Given the description of an element on the screen output the (x, y) to click on. 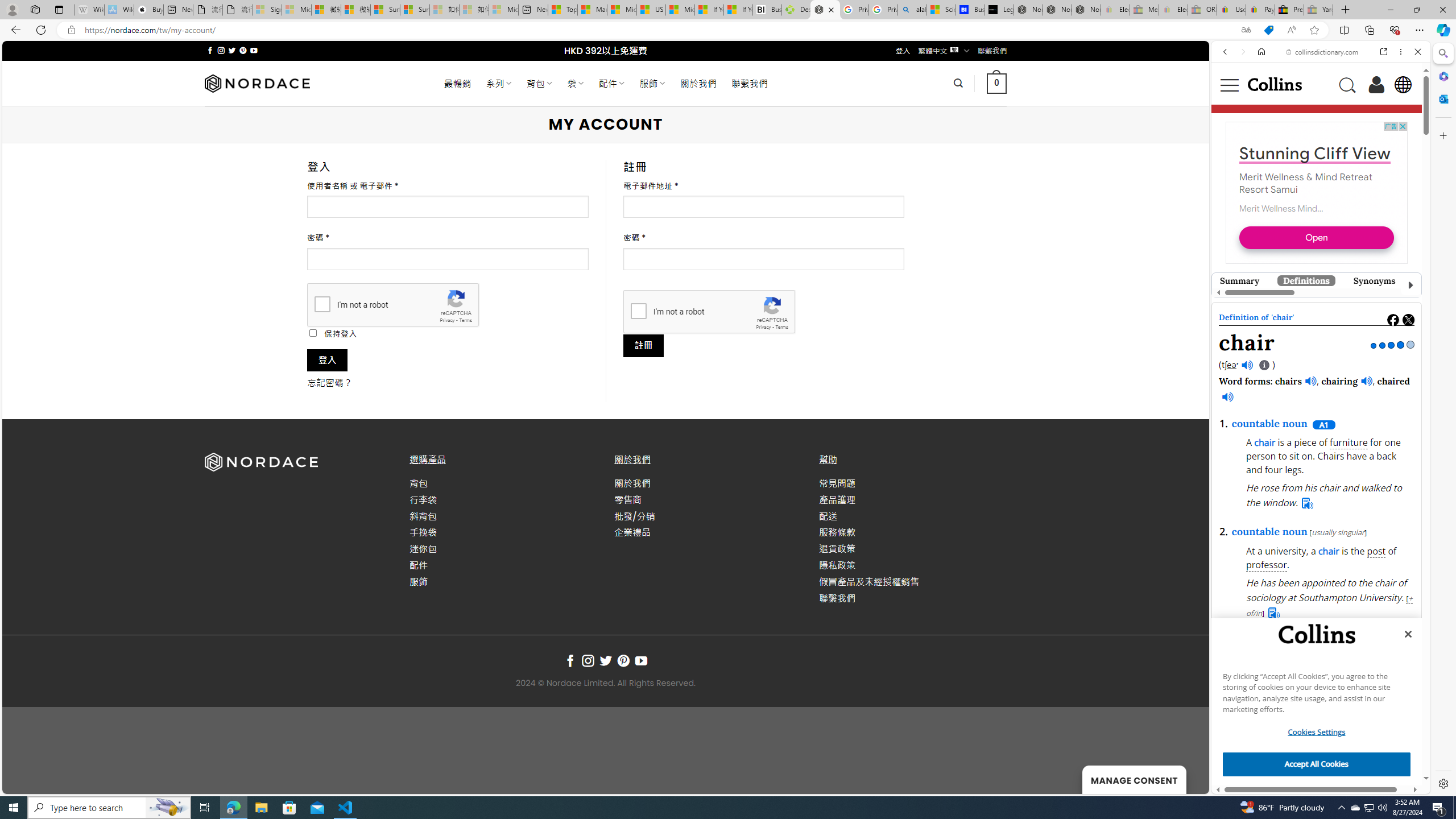
This site has coupons! Shopping in Microsoft Edge (1268, 29)
MANAGE CONSENT (1133, 779)
Class: ns-vyjj0-e-3 image p9FadeIn (1315, 304)
